Given the description of an element on the screen output the (x, y) to click on. 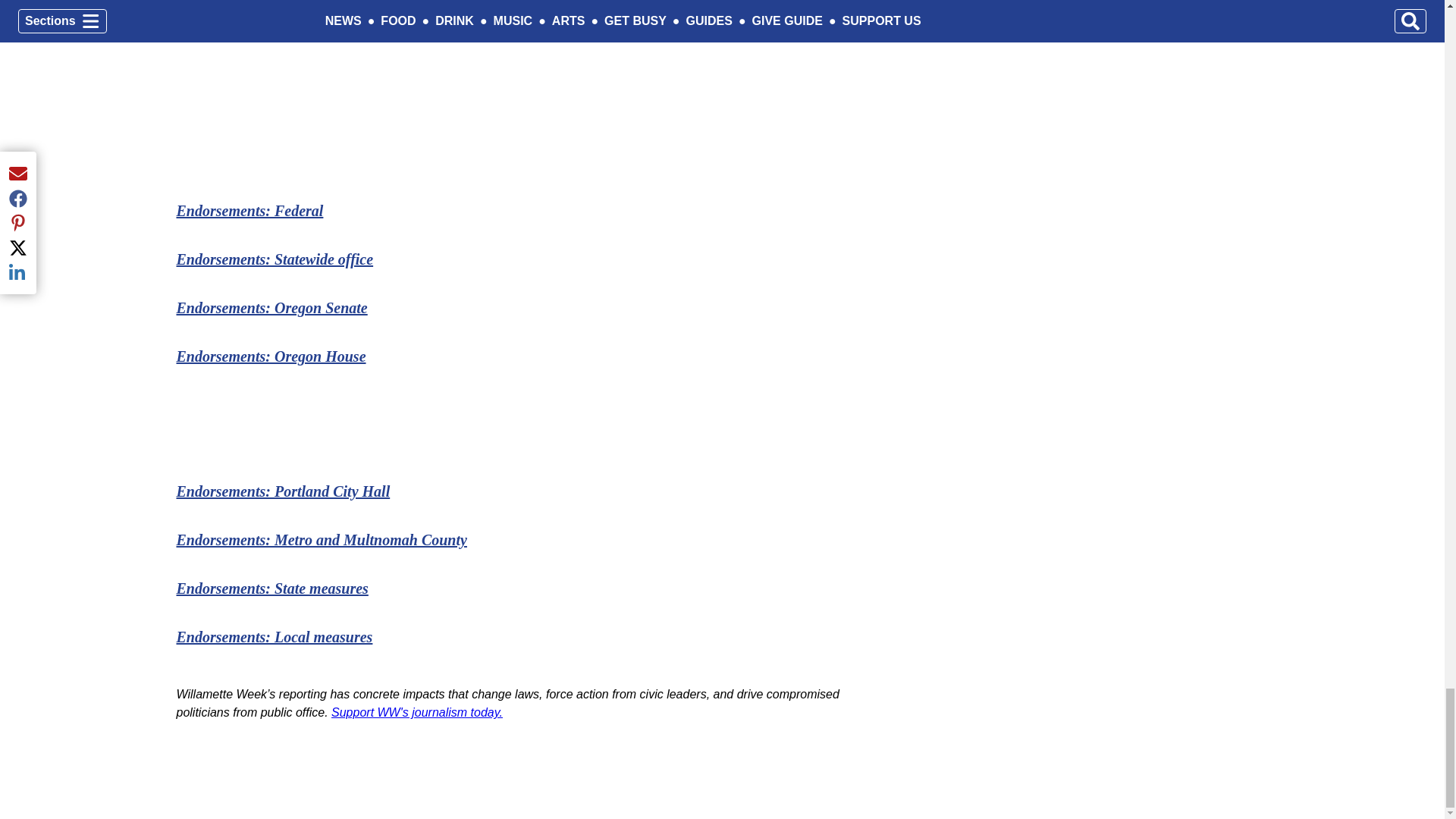
Endorsements: Portland City Hall (283, 491)
Endorsements: Statewide office (274, 258)
Endorsements: Oregon House (270, 356)
Endorsements: Local measures (274, 636)
Endorsements: Oregon Senate (271, 307)
Endorsements: Federal (249, 210)
Endorsements: State measures (272, 588)
Support WW's journalism today. (416, 712)
Endorsements: Metro and Multnomah County (320, 539)
